Given the description of an element on the screen output the (x, y) to click on. 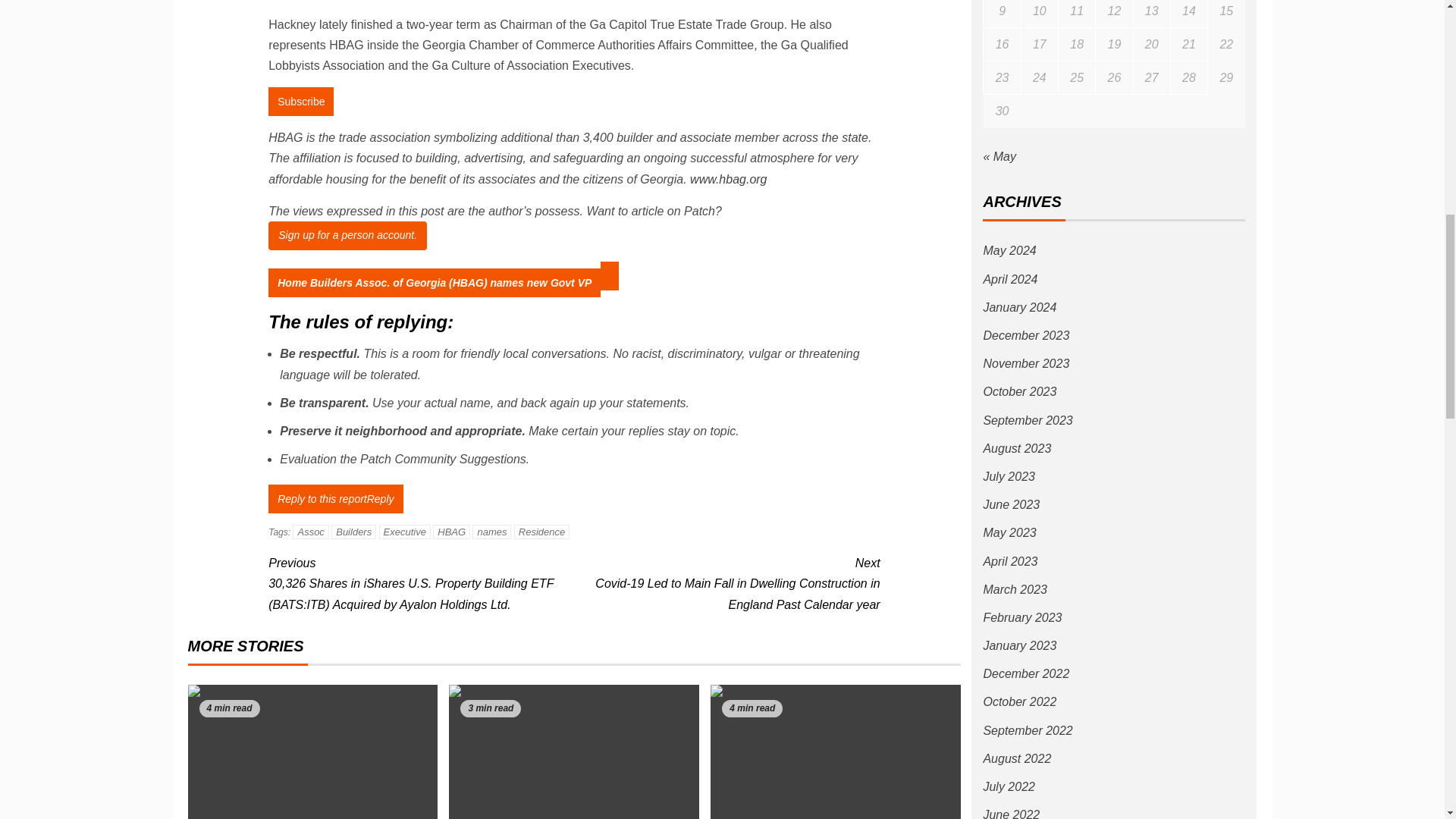
www.hbag.org (728, 178)
Builders (353, 531)
Subscribe (300, 101)
Executive (404, 531)
Sign up for a person account. (346, 235)
HBAG (451, 531)
Assoc (310, 531)
Reply to this reportReply (335, 498)
Residence (541, 531)
names (491, 531)
